Given the description of an element on the screen output the (x, y) to click on. 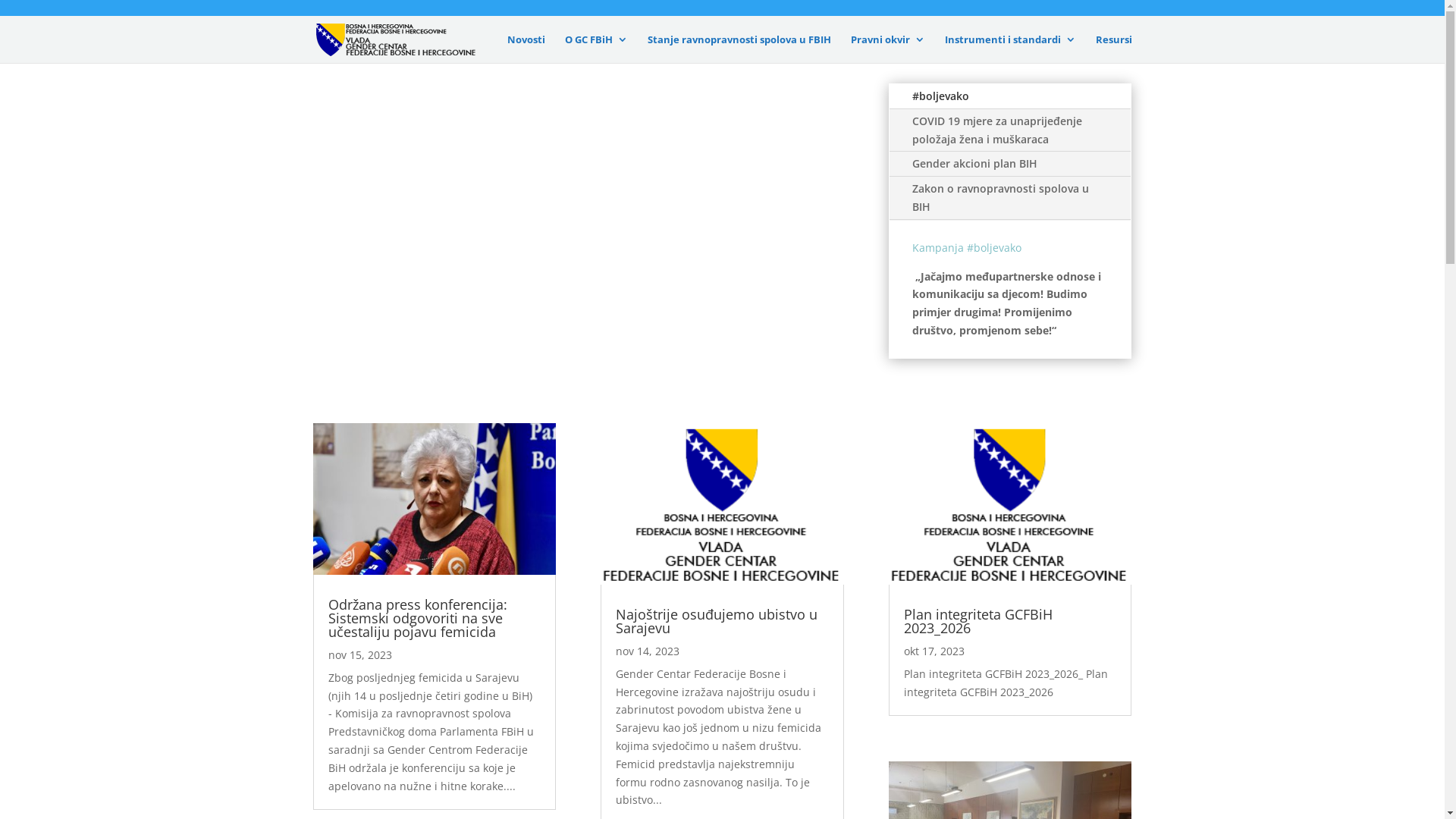
Plan integriteta GCFBiH 2023_2026 Element type: text (977, 621)
Kampanja #boljevako Element type: text (966, 247)
Pravni okvir Element type: text (887, 48)
Gender akcioni plan BIH Element type: text (1009, 163)
Instrumenti i standardi Element type: text (1010, 48)
Stanje ravnopravnosti spolova u FBIH Element type: text (739, 48)
O GC FBiH Element type: text (595, 48)
Zakon o ravnopravnosti spolova u BIH Element type: text (1009, 197)
Resursi Element type: text (1113, 48)
#boljevako Element type: text (1009, 96)
Novosti Element type: text (525, 48)
